Given the description of an element on the screen output the (x, y) to click on. 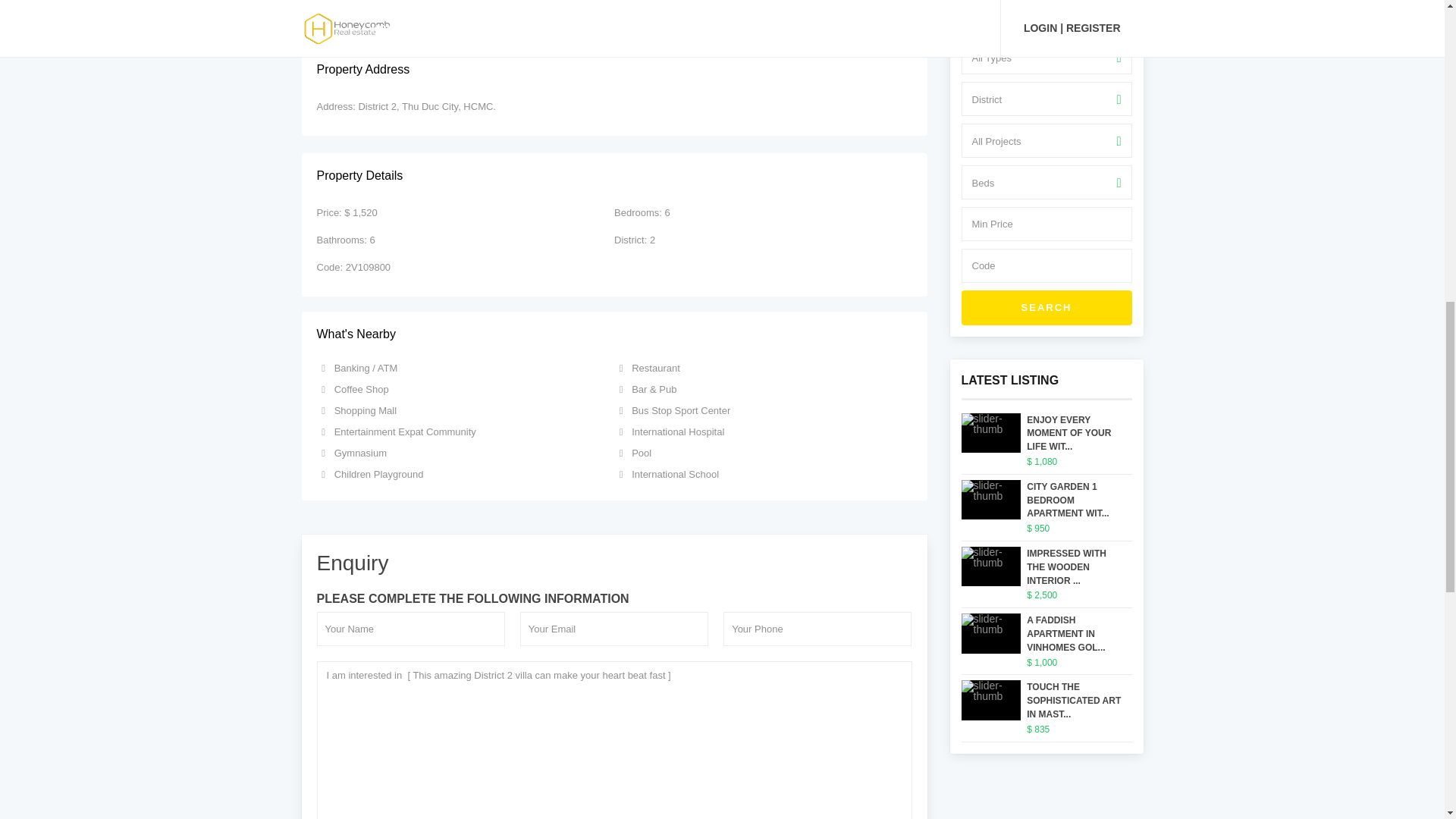
SEARCH (1046, 307)
Property Address (614, 69)
Property Details (614, 176)
What'S Nearby (614, 334)
